Given the description of an element on the screen output the (x, y) to click on. 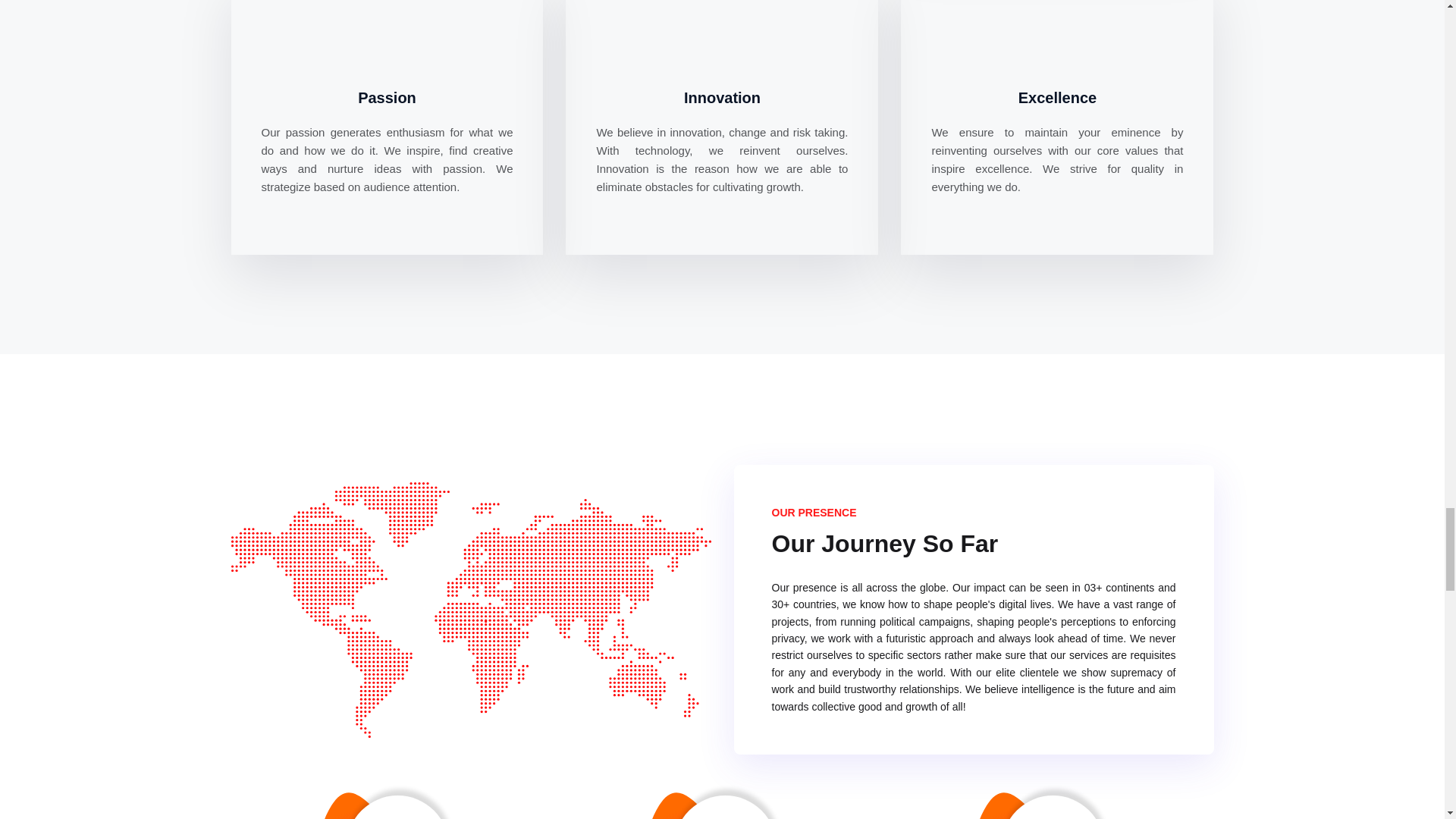
Our Journey So Far (470, 609)
